Given the description of an element on the screen output the (x, y) to click on. 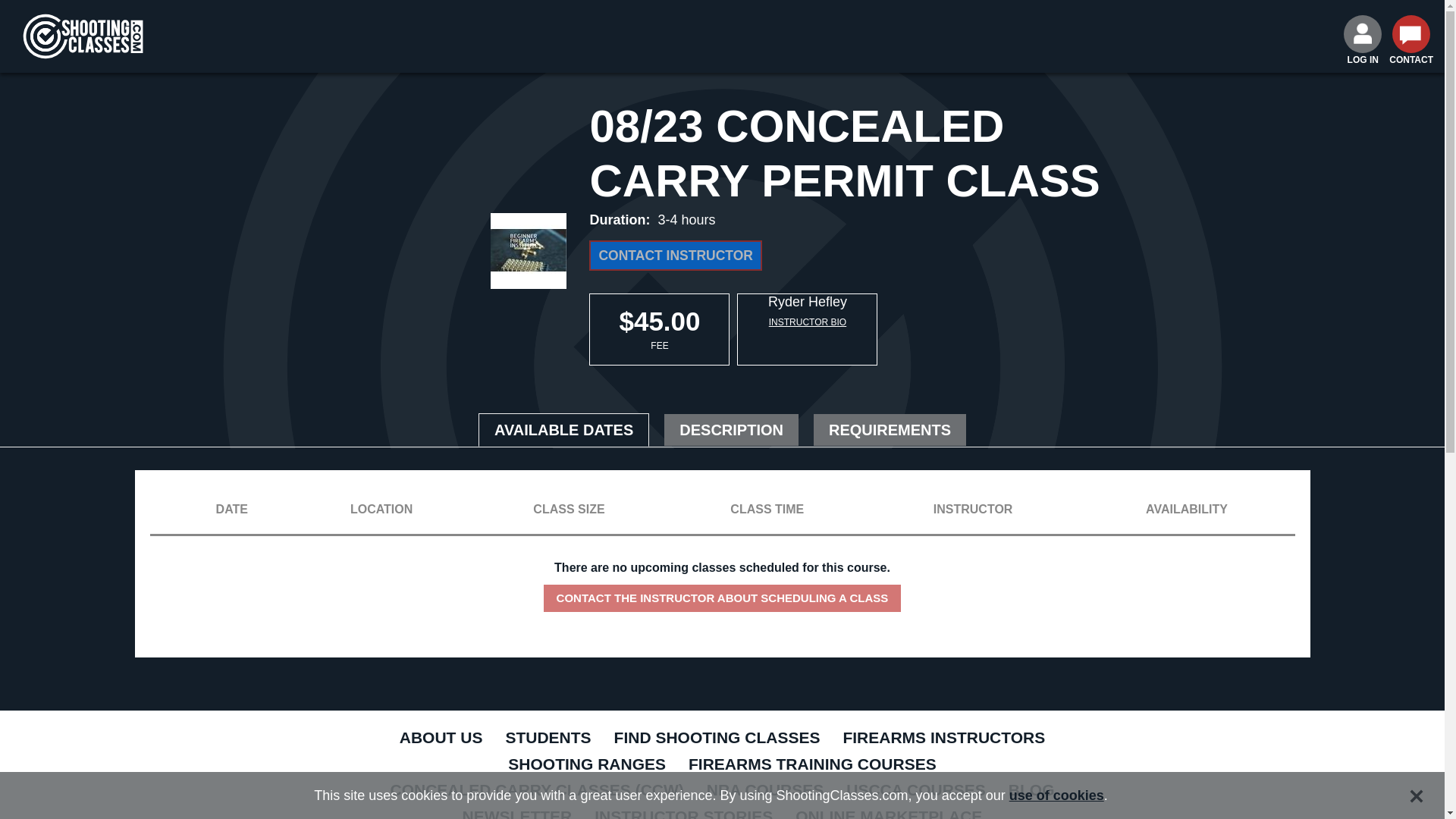
FIREARMS INSTRUCTORS (944, 738)
CONTACT INSTRUCTOR (675, 255)
INSTRUCTOR BIO (806, 321)
AVAILABLE DATES (564, 429)
ONLINE MARKETPLACE (888, 811)
NEWSLETTER (517, 811)
BLOG (1031, 791)
NRA COURSES (764, 791)
SHOOTING RANGES (586, 765)
INSTRUCTOR STORIES (683, 811)
LOG IN (1362, 41)
CONTACT THE INSTRUCTOR ABOUT SCHEDULING A CLASS (722, 598)
ABOUT US (441, 738)
DESCRIPTION (730, 429)
